Given the description of an element on the screen output the (x, y) to click on. 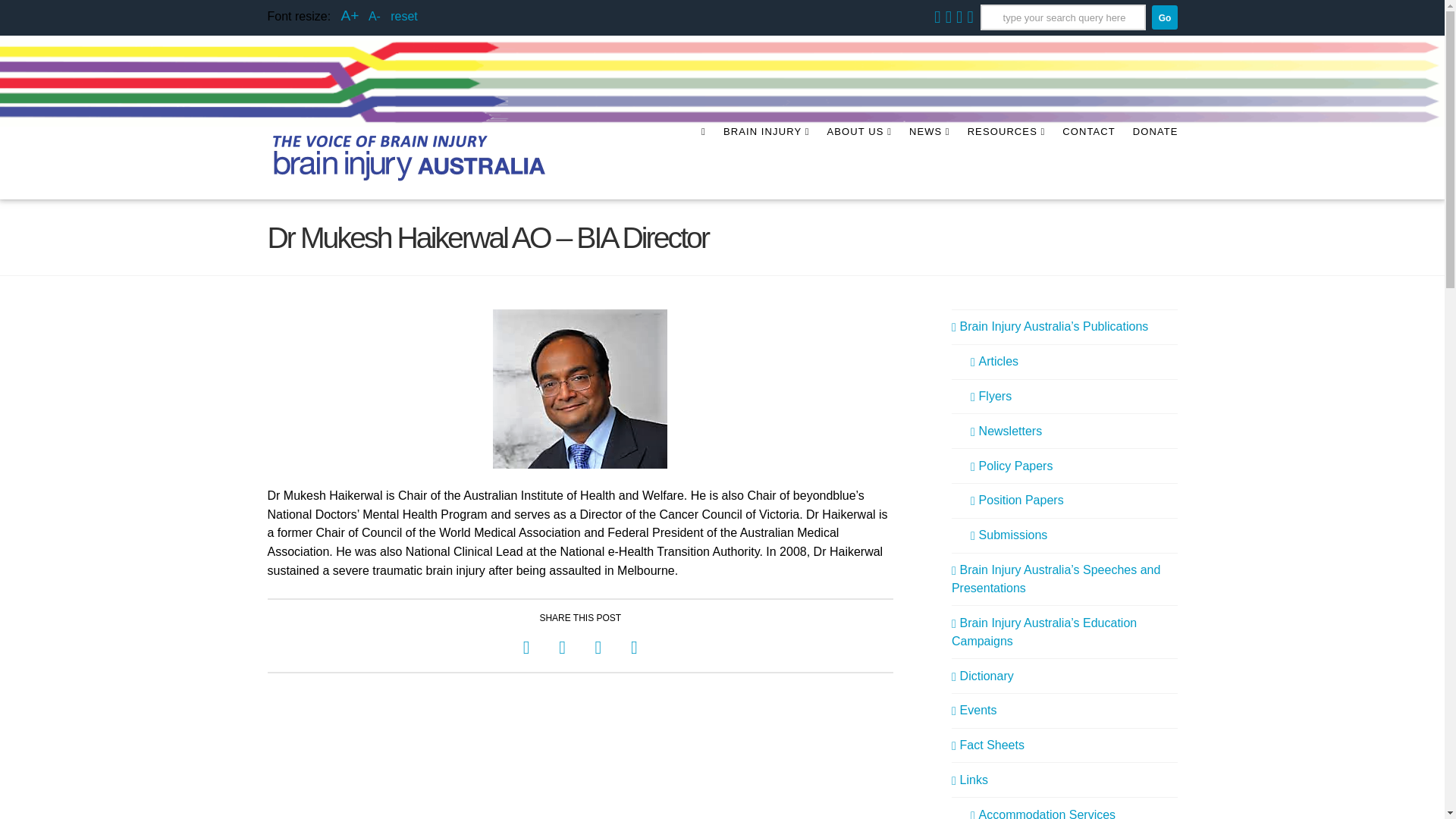
RESOURCES (1006, 162)
Brain Injury Australia on YouTube (937, 16)
reset font size (403, 15)
Go (1163, 16)
Go (1163, 16)
Brain Injury Australia on Twitter (959, 16)
reset (403, 15)
NEWS (928, 162)
Brain Injury Australia on Facebook (948, 16)
A- (374, 15)
ABOUT US (858, 162)
Brain Injury Australia on LinkedIn (969, 16)
CONTACT (1088, 162)
increase font size (349, 15)
BRAIN INJURY (766, 162)
